Given the description of an element on the screen output the (x, y) to click on. 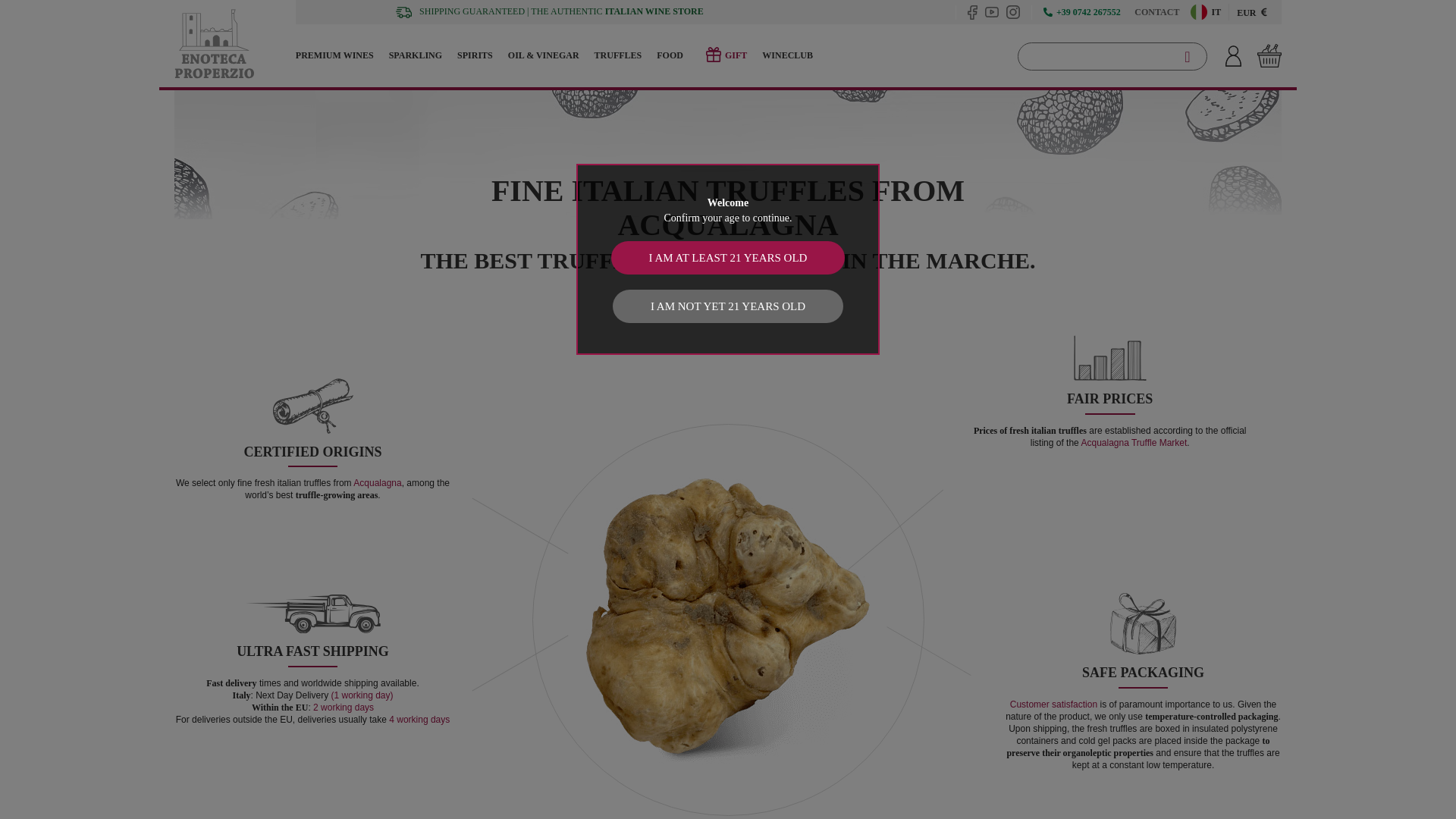
IT (1203, 12)
Enoteca Properzio (234, 43)
CONTACT (1152, 11)
PREMIUM WINES (338, 55)
I AM AT LEAST 21 YEARS OLD (728, 257)
I AM NOT YET 21 YEARS OLD (727, 305)
EUR (1251, 11)
